Given the description of an element on the screen output the (x, y) to click on. 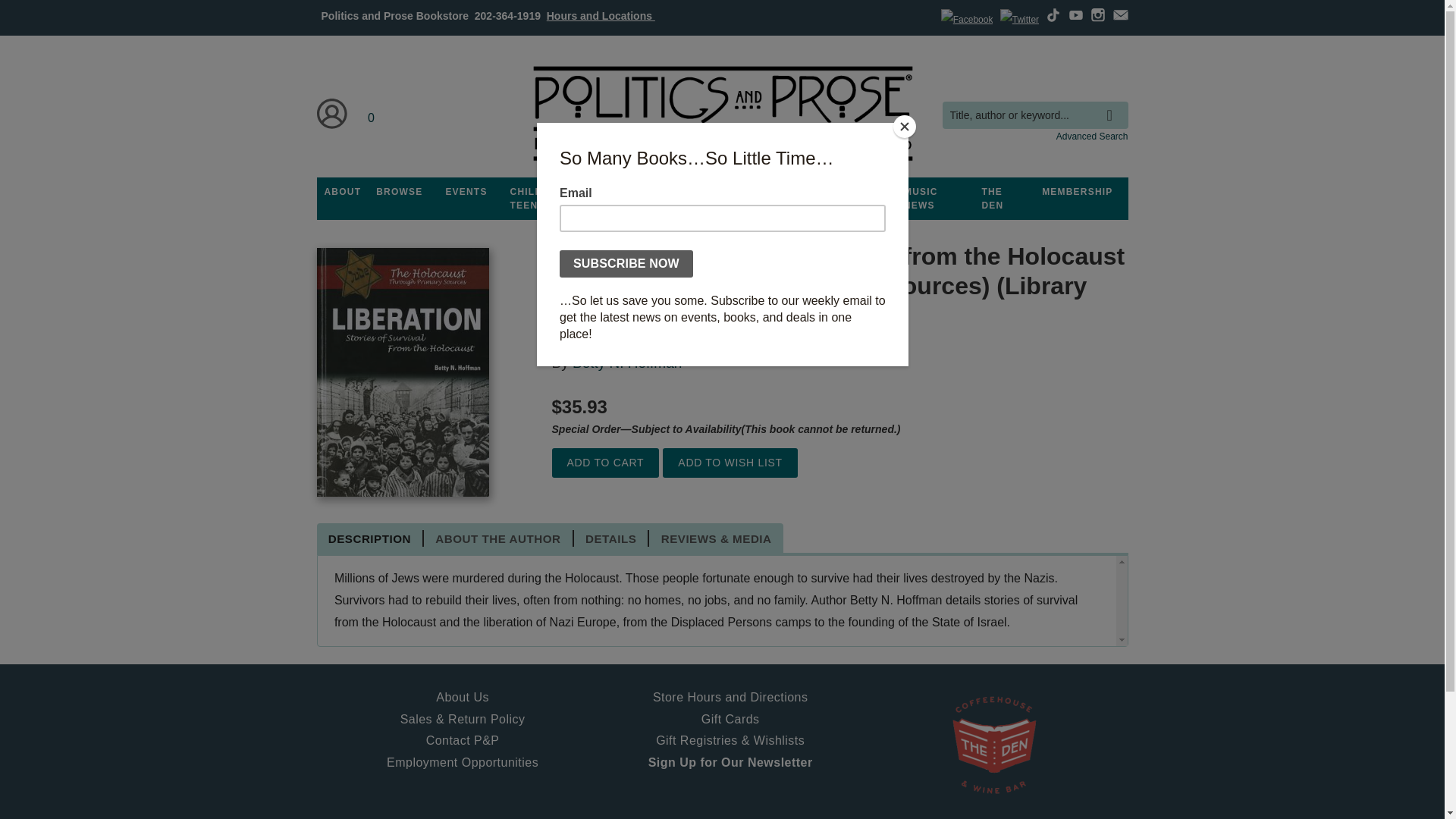
Home (721, 114)
Advanced Search (1092, 136)
Add to Wish List (729, 462)
BROWSE (398, 191)
See our event calendar (465, 191)
SUBSCRIPTIONS (722, 191)
search (1112, 103)
Browse our shelves (398, 191)
SERVICES (808, 191)
See information about our programs (633, 191)
ABOUT (343, 191)
PROGRAMS (633, 191)
Title, author or keyword... (1034, 115)
See our store ours and locations (601, 15)
